Given the description of an element on the screen output the (x, y) to click on. 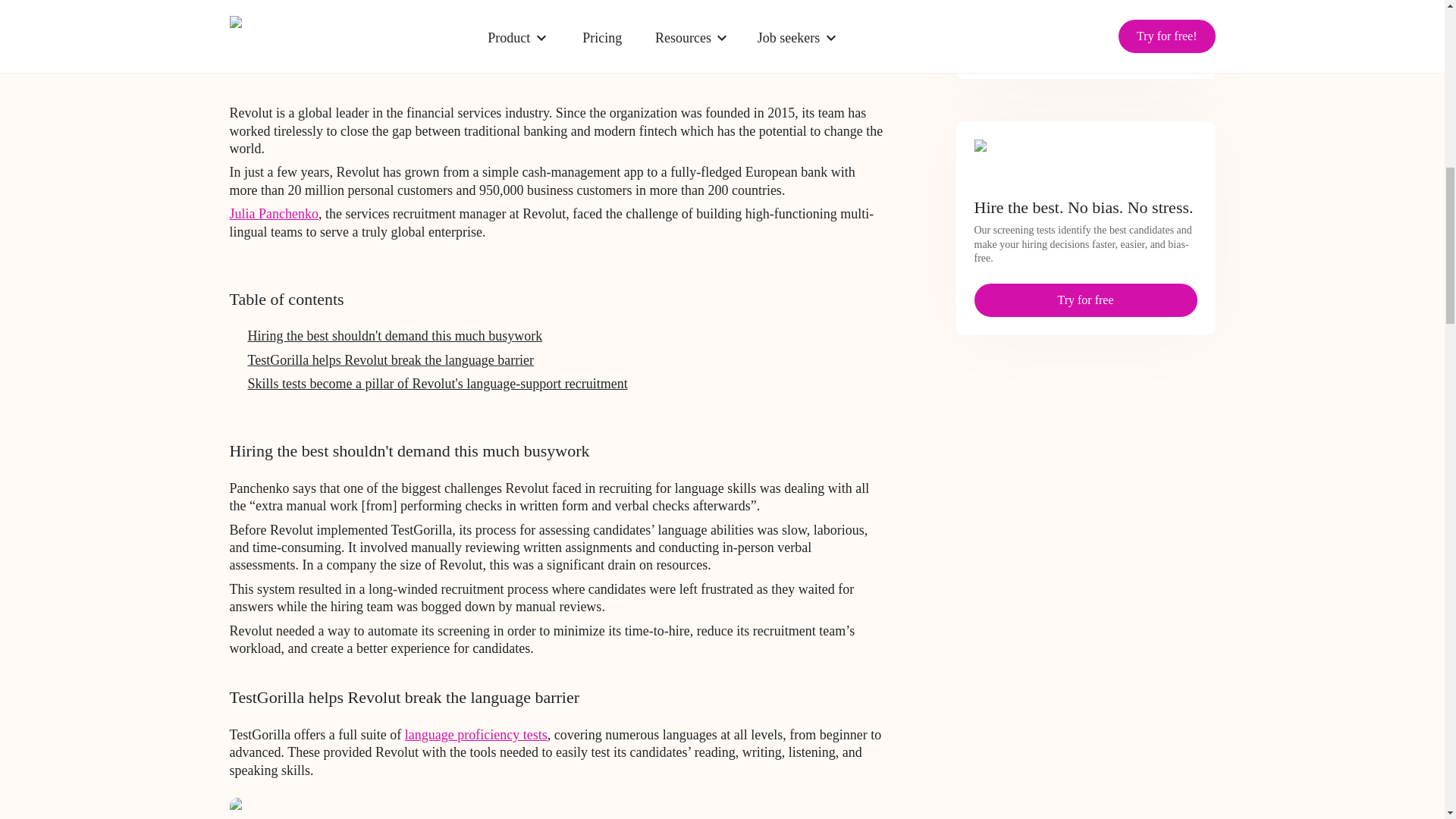
Julia Panchenko (272, 213)
language proficiency tests (475, 734)
TestGorilla helps Revolut break the language barrier (390, 359)
Hiring the best shouldn't demand this much busywork (394, 335)
